Given the description of an element on the screen output the (x, y) to click on. 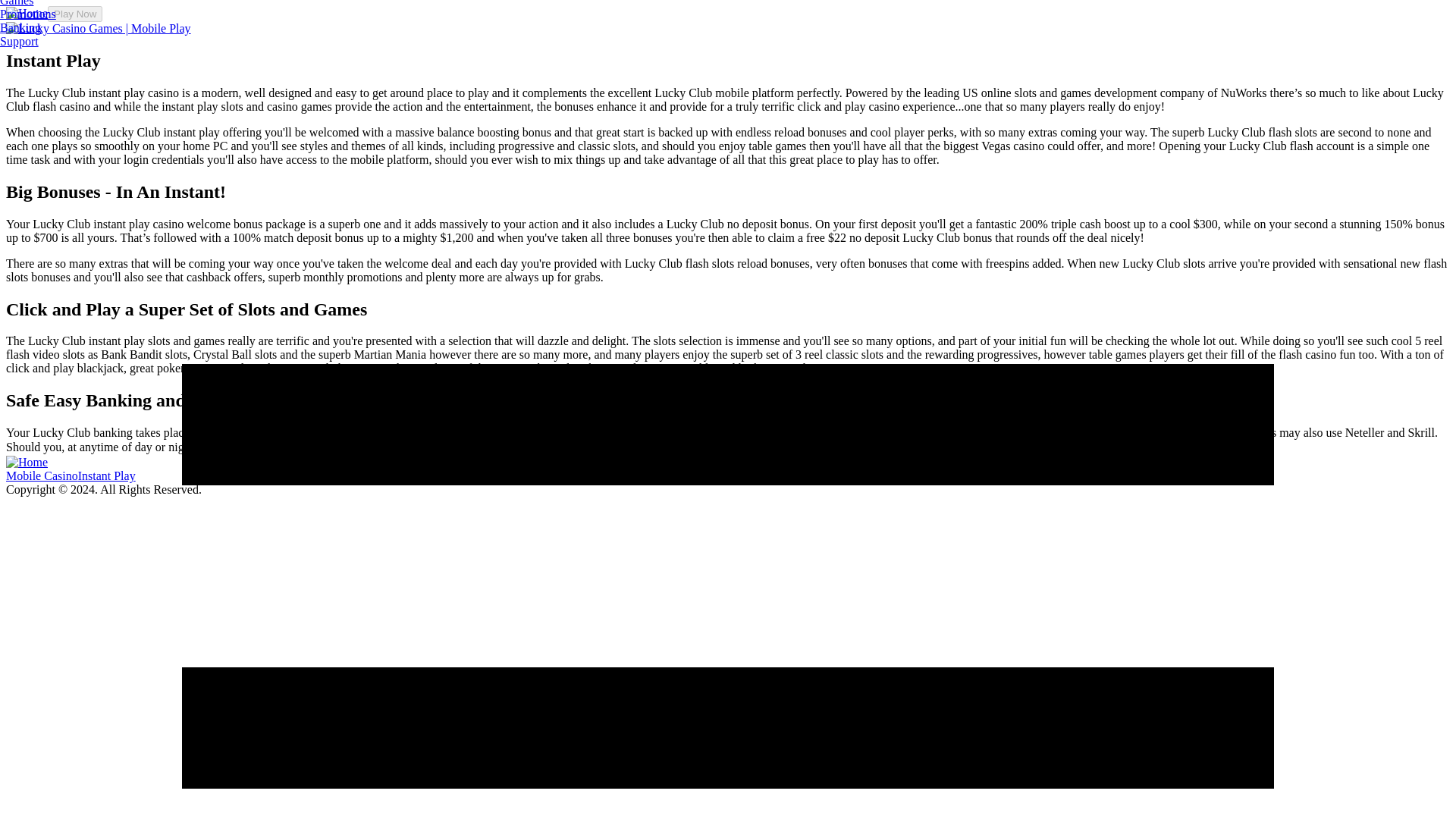
Instant Play (106, 475)
Play Now (1104, 447)
Mobile Casino (41, 475)
Play Now (74, 13)
